Given the description of an element on the screen output the (x, y) to click on. 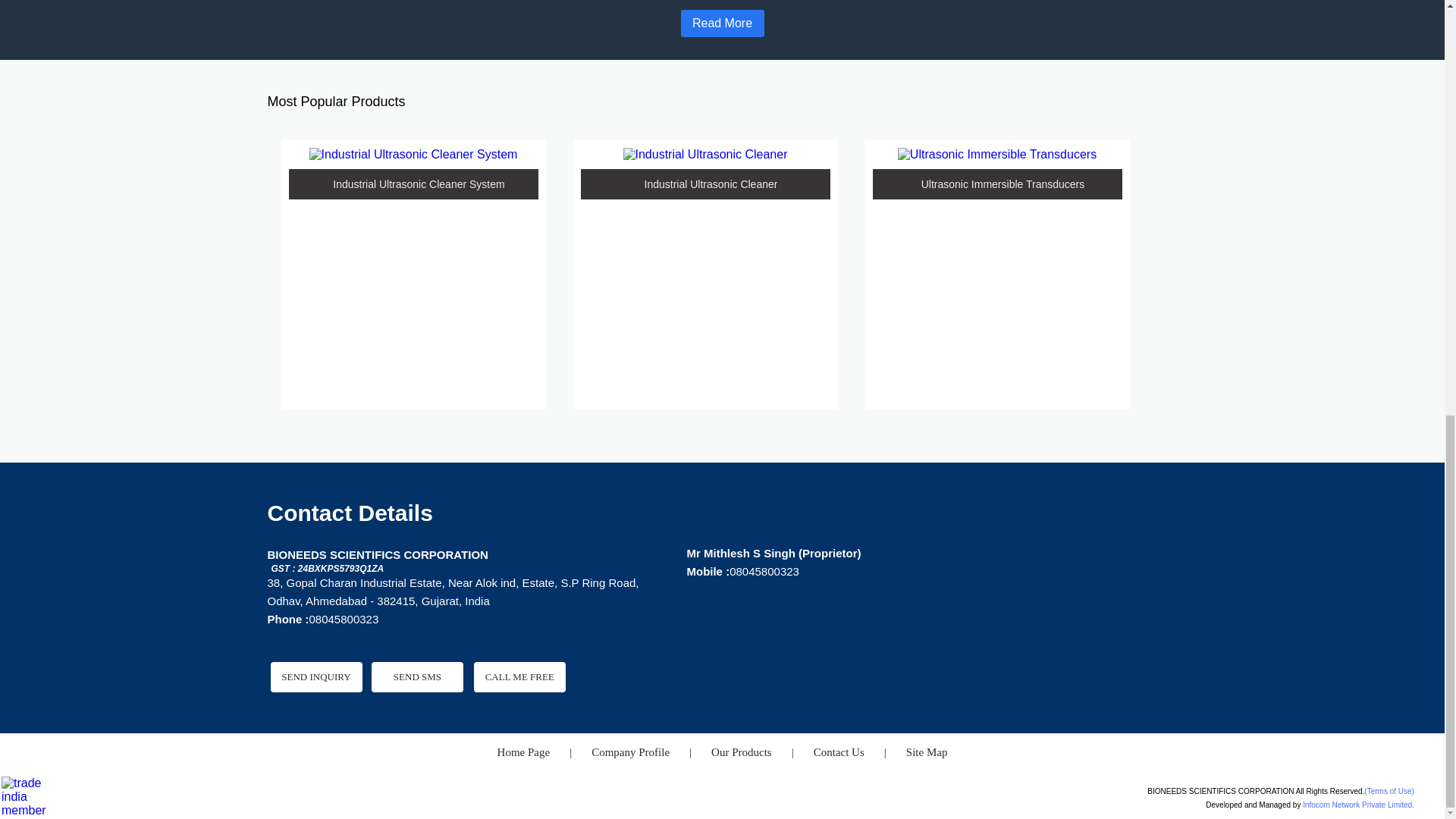
Industrial Ultrasonic Cleaner System (413, 154)
Industrial Ultrasonic Cleaner (705, 154)
Ultrasonic Immersible Transducers (997, 154)
